Given the description of an element on the screen output the (x, y) to click on. 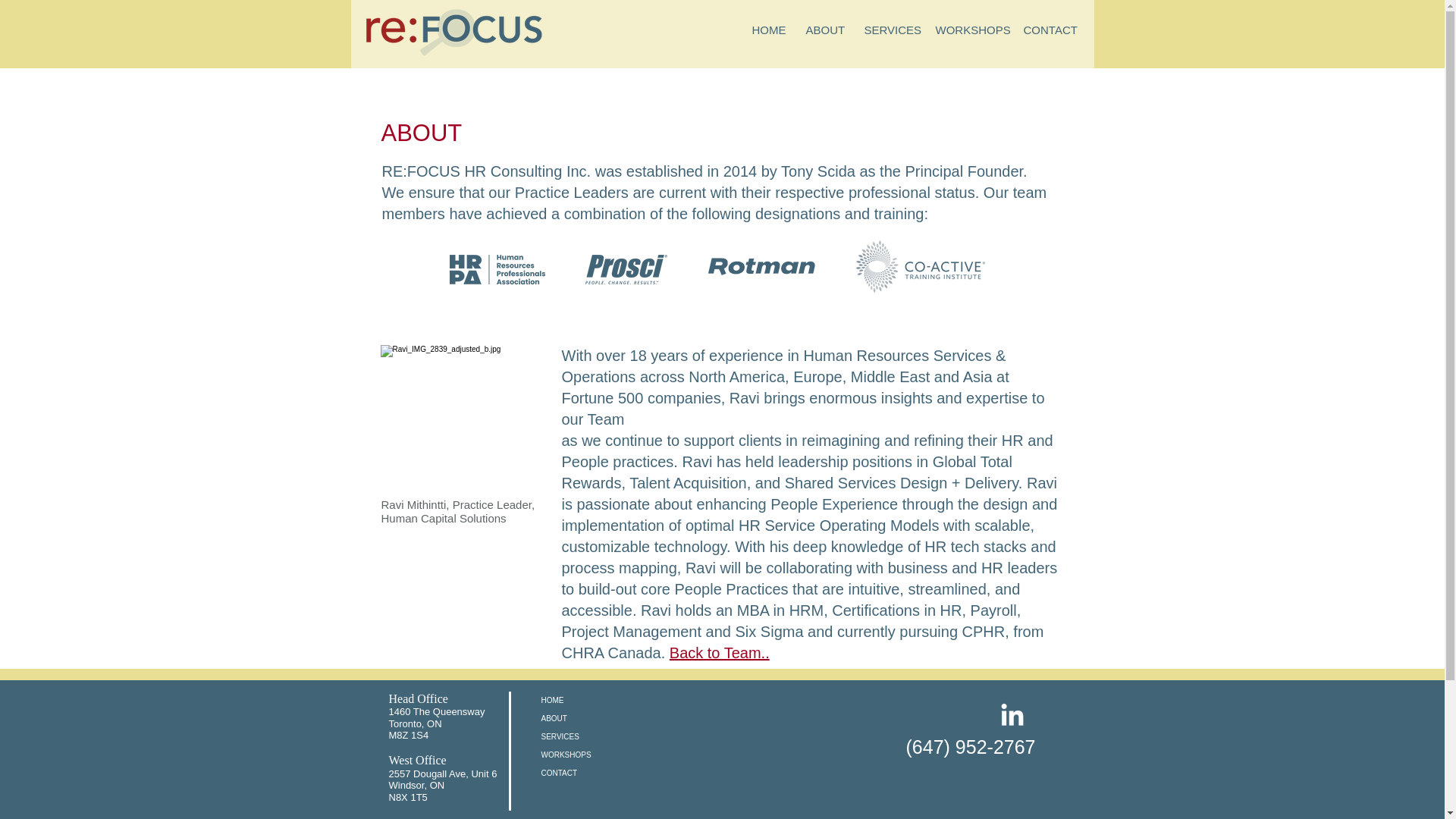
CONTACT (1046, 29)
SERVICES (887, 29)
ABOUT (823, 29)
WORKSHOPS (967, 29)
WORKSHOPS (594, 755)
ABOUT (594, 719)
HOME (594, 700)
HOME (766, 29)
CONTACT (594, 773)
SERVICES (594, 737)
